Given the description of an element on the screen output the (x, y) to click on. 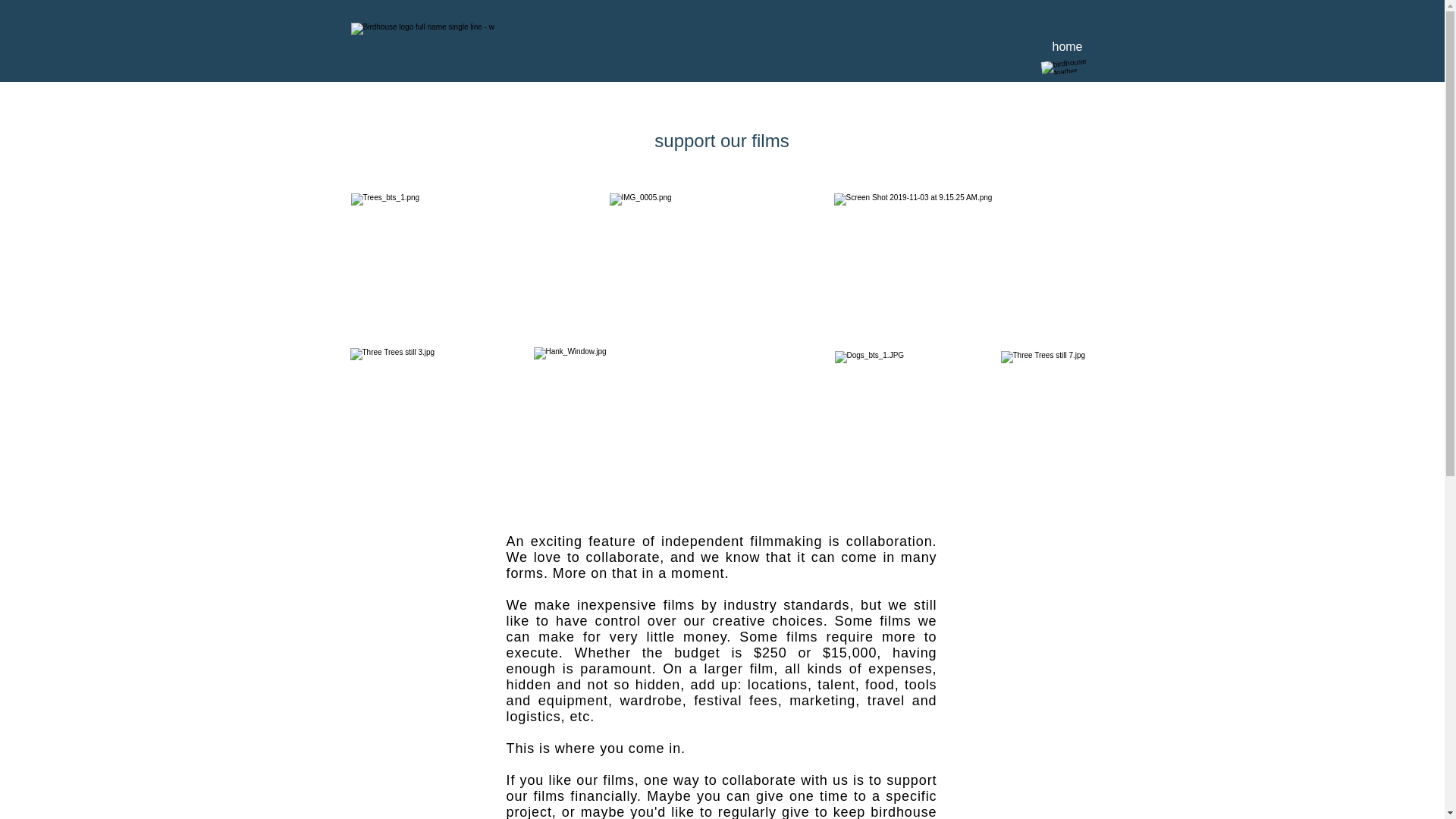
home (1066, 46)
